Given the description of an element on the screen output the (x, y) to click on. 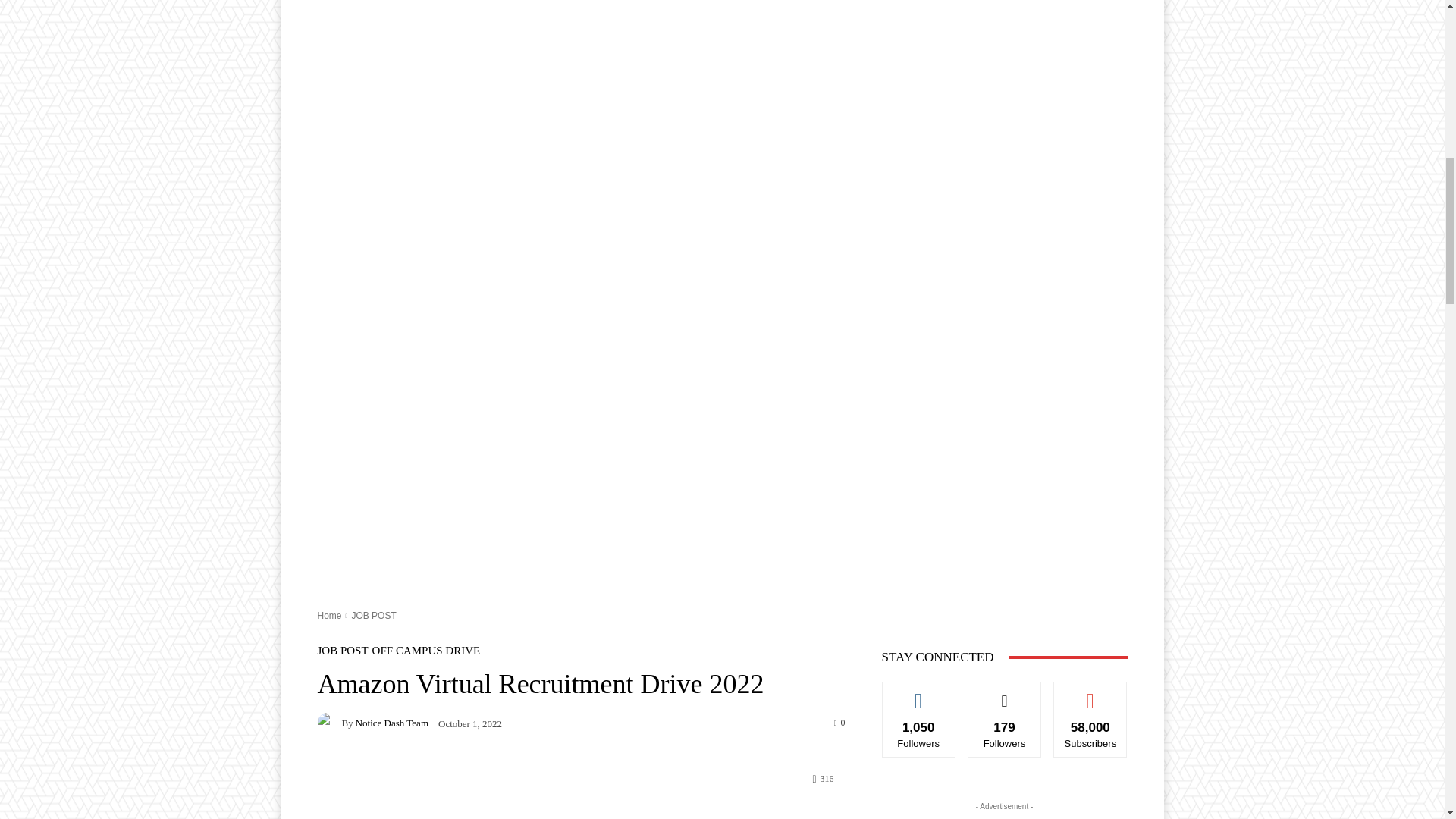
Advertisement (722, 11)
